Given the description of an element on the screen output the (x, y) to click on. 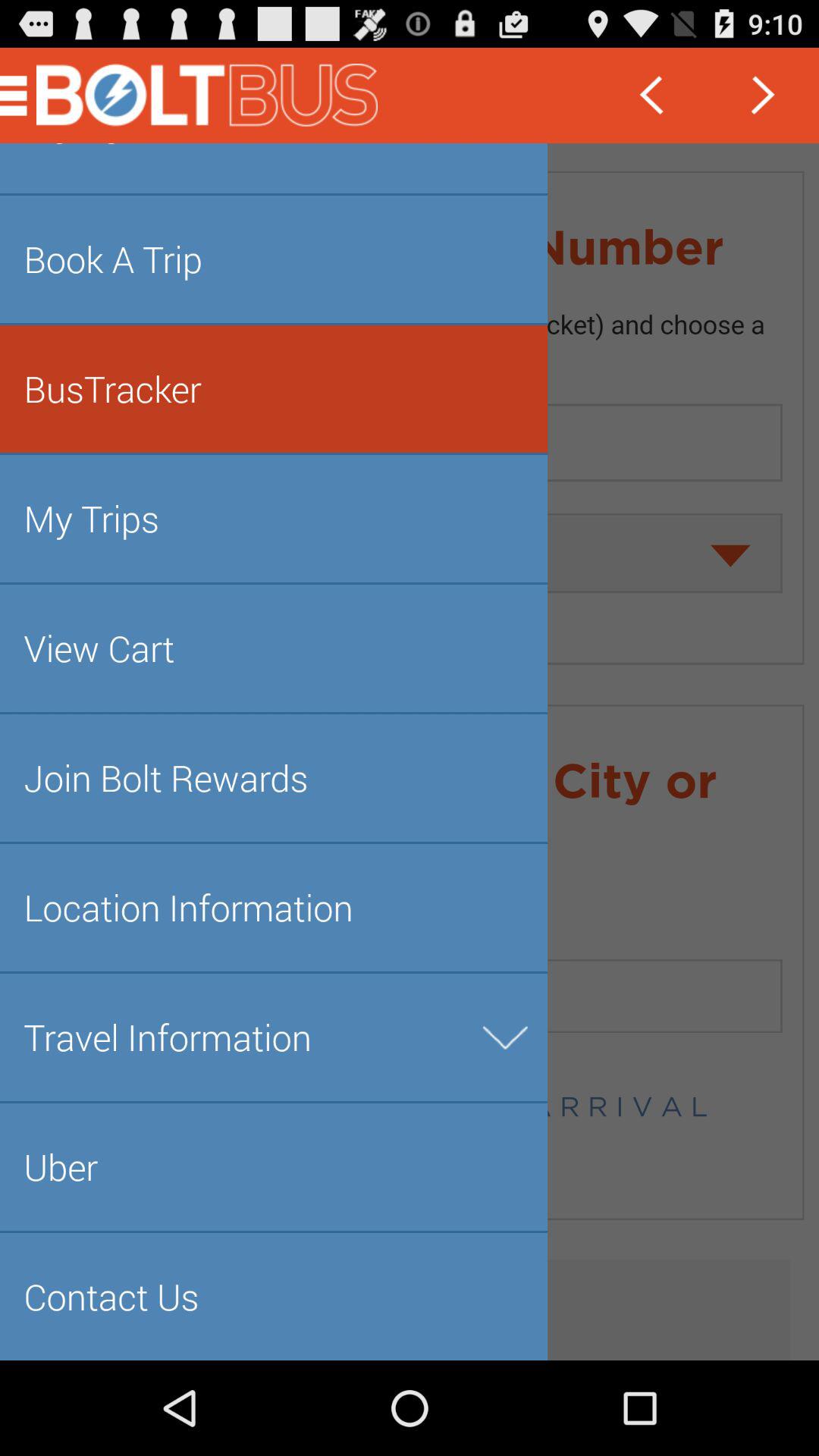
select option (409, 751)
